Given the description of an element on the screen output the (x, y) to click on. 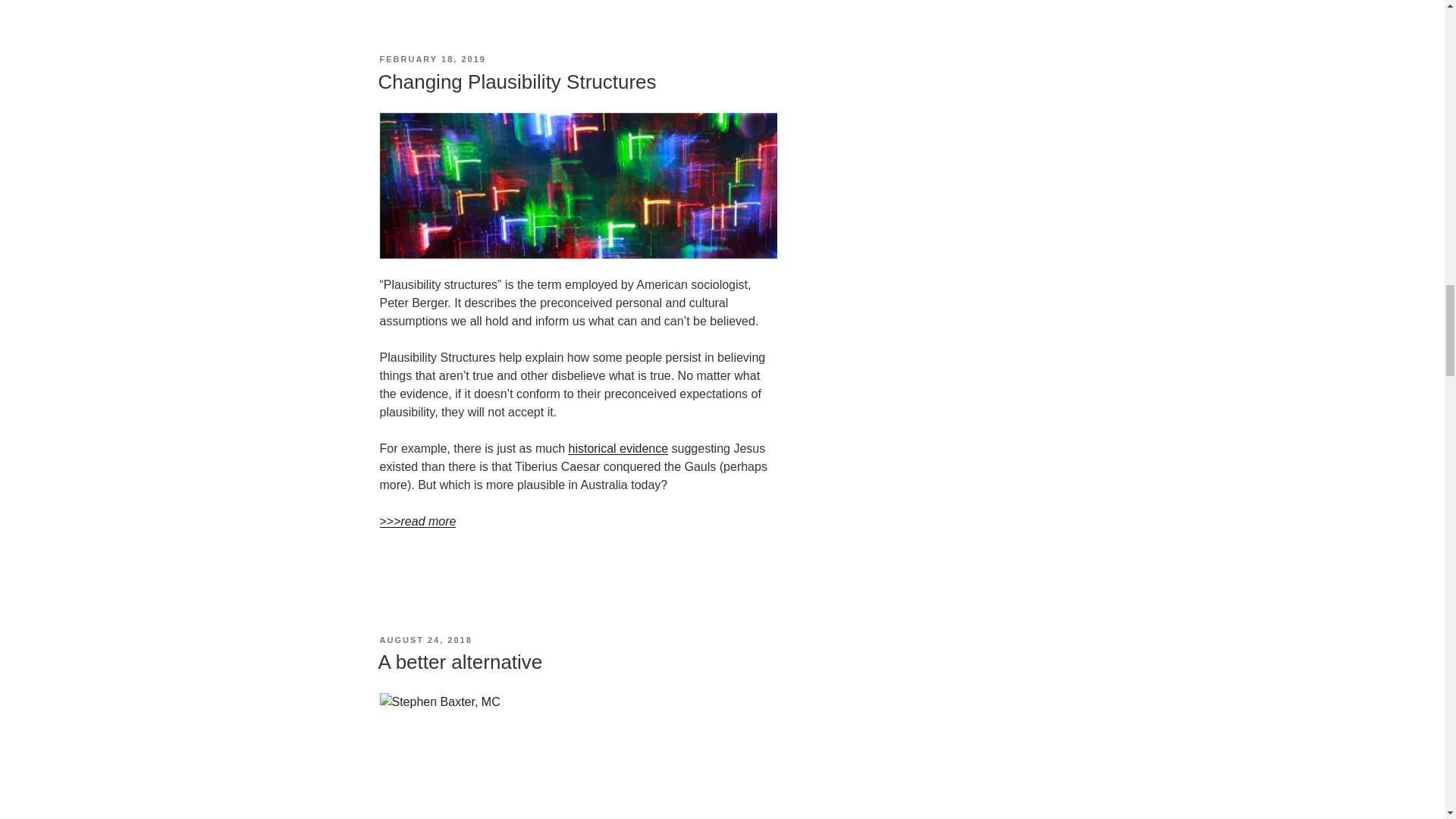
AUGUST 24, 2018 (424, 639)
historical evidence (617, 448)
Changing Plausibility Structures (516, 81)
FEBRUARY 18, 2019 (431, 58)
A better alternative (459, 661)
